Given the description of an element on the screen output the (x, y) to click on. 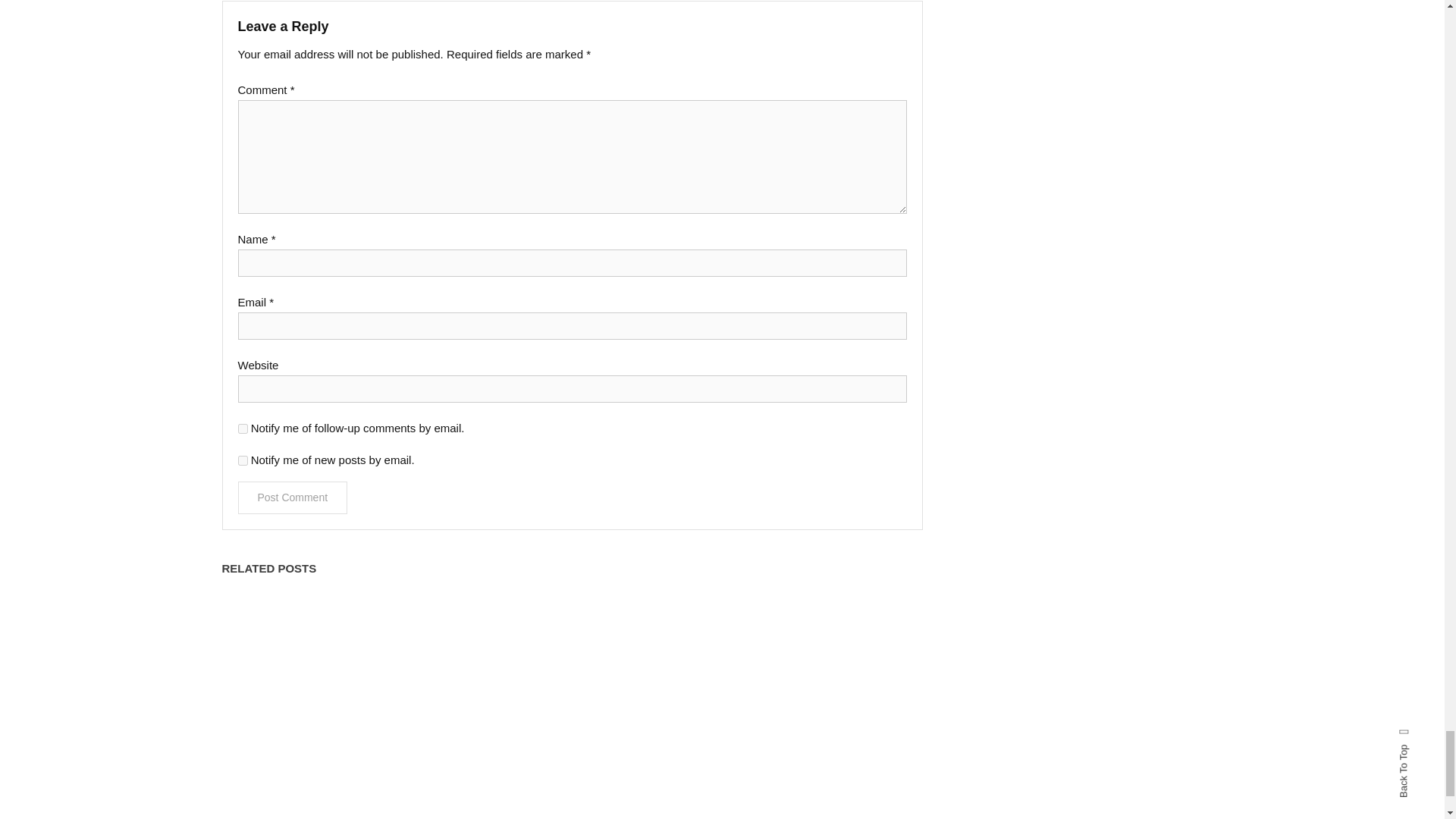
Post Comment (292, 497)
subscribe (242, 429)
subscribe (242, 460)
